Given the description of an element on the screen output the (x, y) to click on. 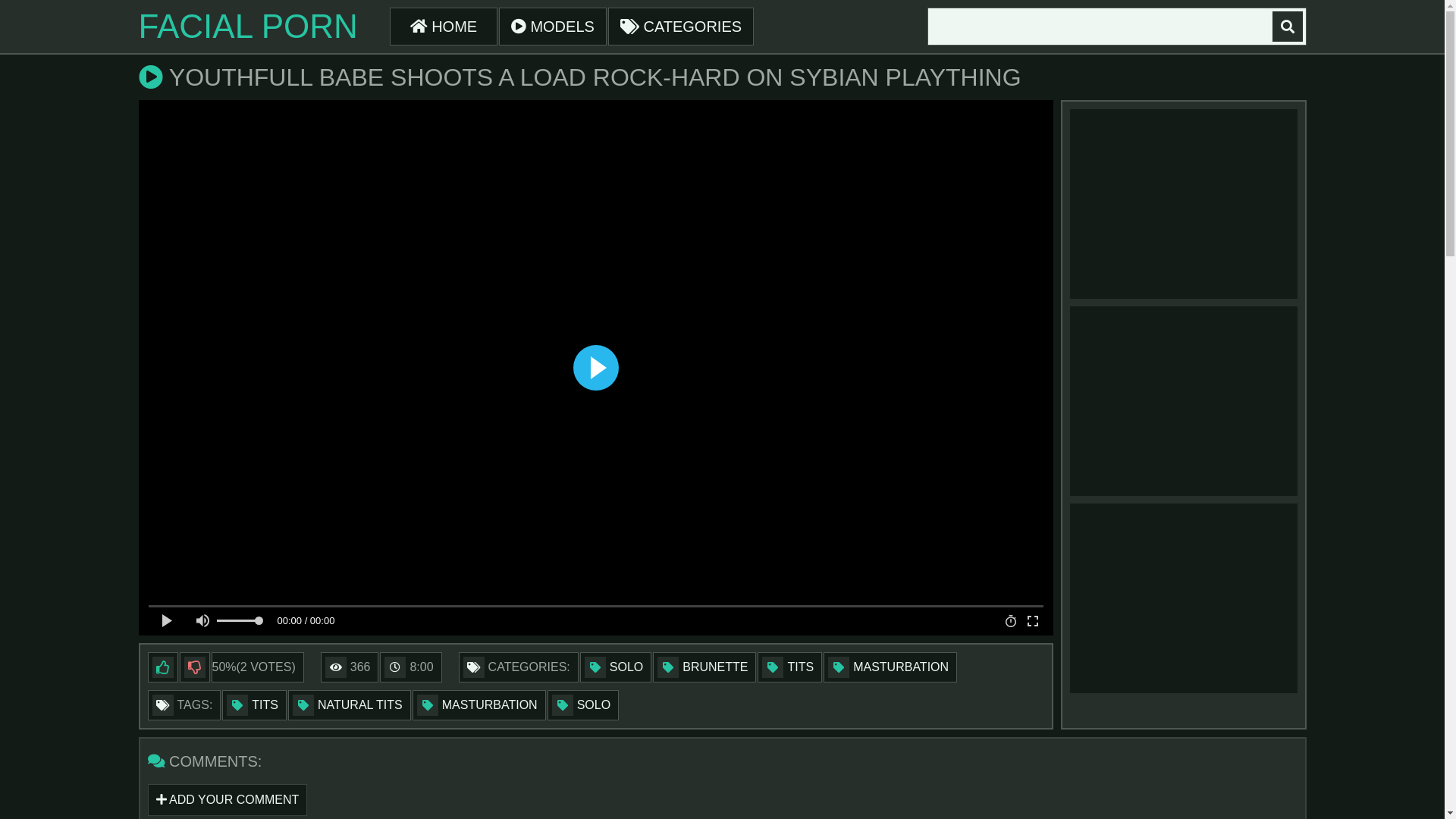
NATURAL TITS Element type: text (349, 705)
TITS Element type: text (789, 667)
Search Element type: hover (1287, 26)
HOME Element type: text (443, 26)
Dislike! Element type: hover (193, 667)
MASTURBATION Element type: text (479, 705)
SOLO Element type: text (582, 705)
MODELS Element type: text (552, 26)
Like! Element type: hover (162, 667)
SOLO Element type: text (615, 667)
BRUNETTE Element type: text (704, 667)
TITS Element type: text (254, 705)
FACIAL PORN Element type: text (247, 26)
MASTURBATION Element type: text (890, 667)
CATEGORIES Element type: text (680, 26)
